Given the description of an element on the screen output the (x, y) to click on. 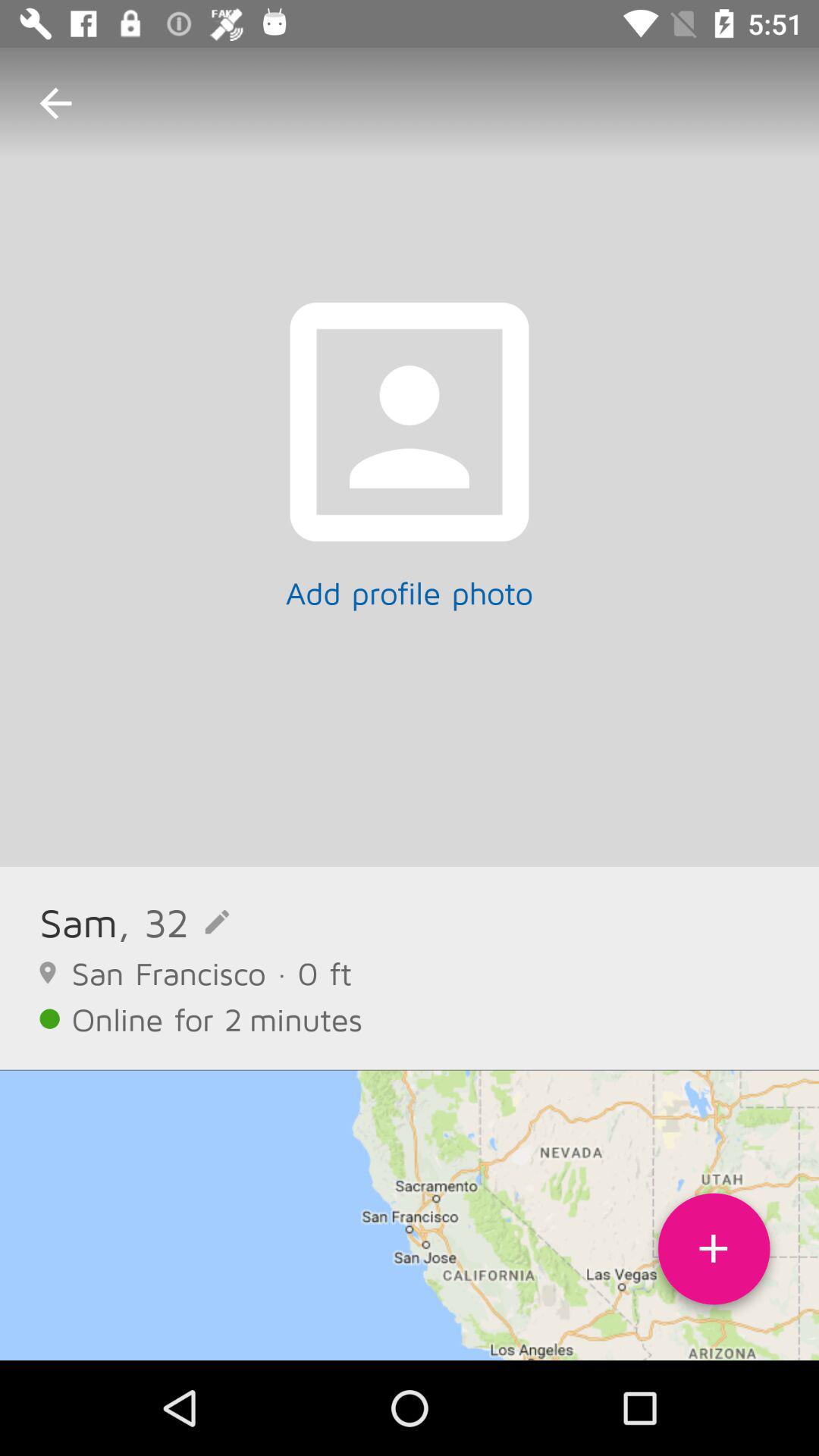
swipe until , 32 item (173, 921)
